Given the description of an element on the screen output the (x, y) to click on. 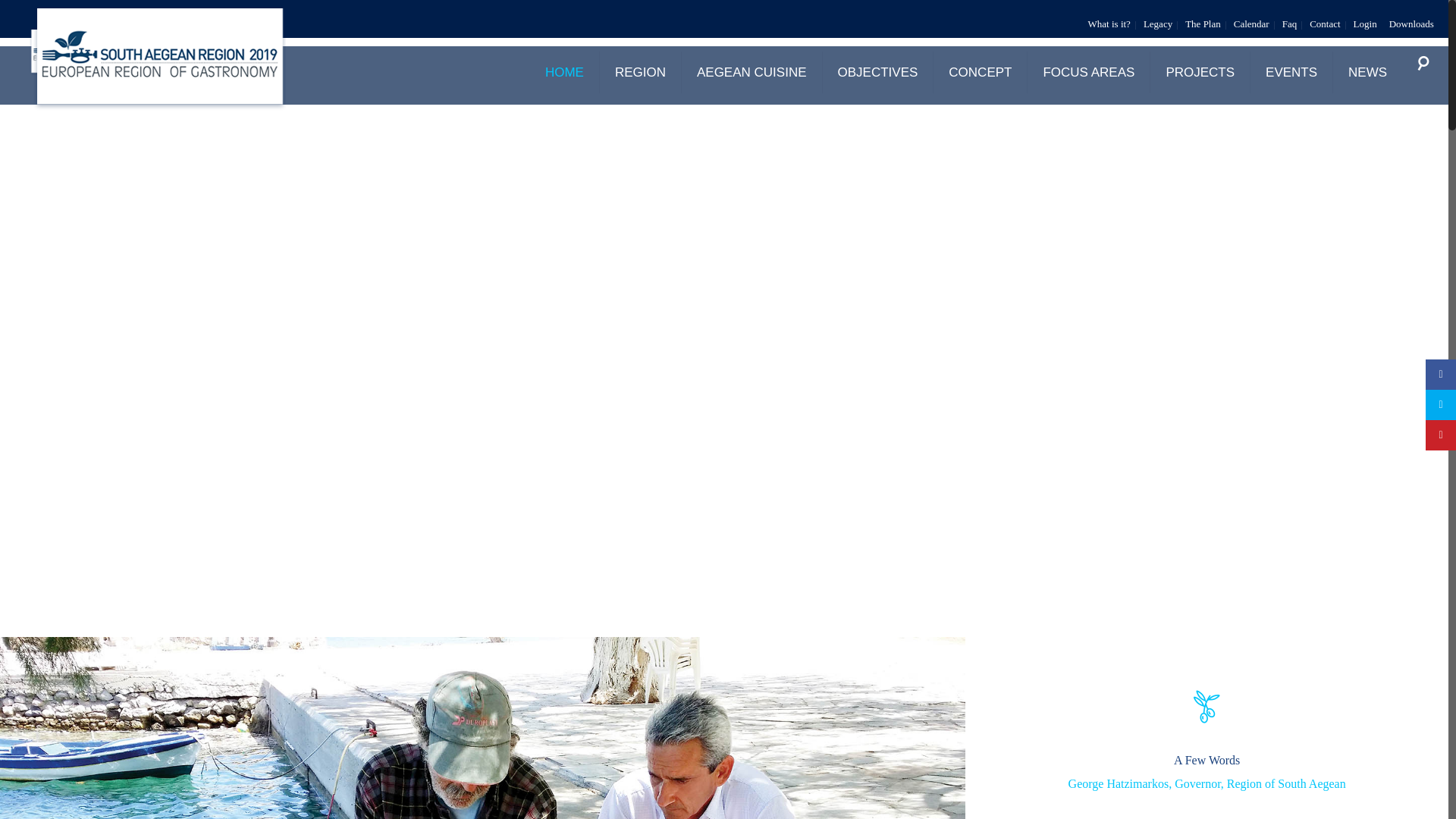
EVENTS (1291, 72)
Faq (1289, 23)
OBJECTIVES (878, 72)
REGION (640, 72)
Downloads (1411, 23)
HOME (564, 72)
AEGEAN CUISINE (751, 72)
Legacy (1157, 23)
FOCUS AREAS (1088, 72)
What is it? (1109, 23)
CONCEPT (980, 72)
PROJECTS (1200, 72)
The Plan (1203, 23)
Aegean Gastronomy (85, 54)
Contact (1323, 23)
